Given the description of an element on the screen output the (x, y) to click on. 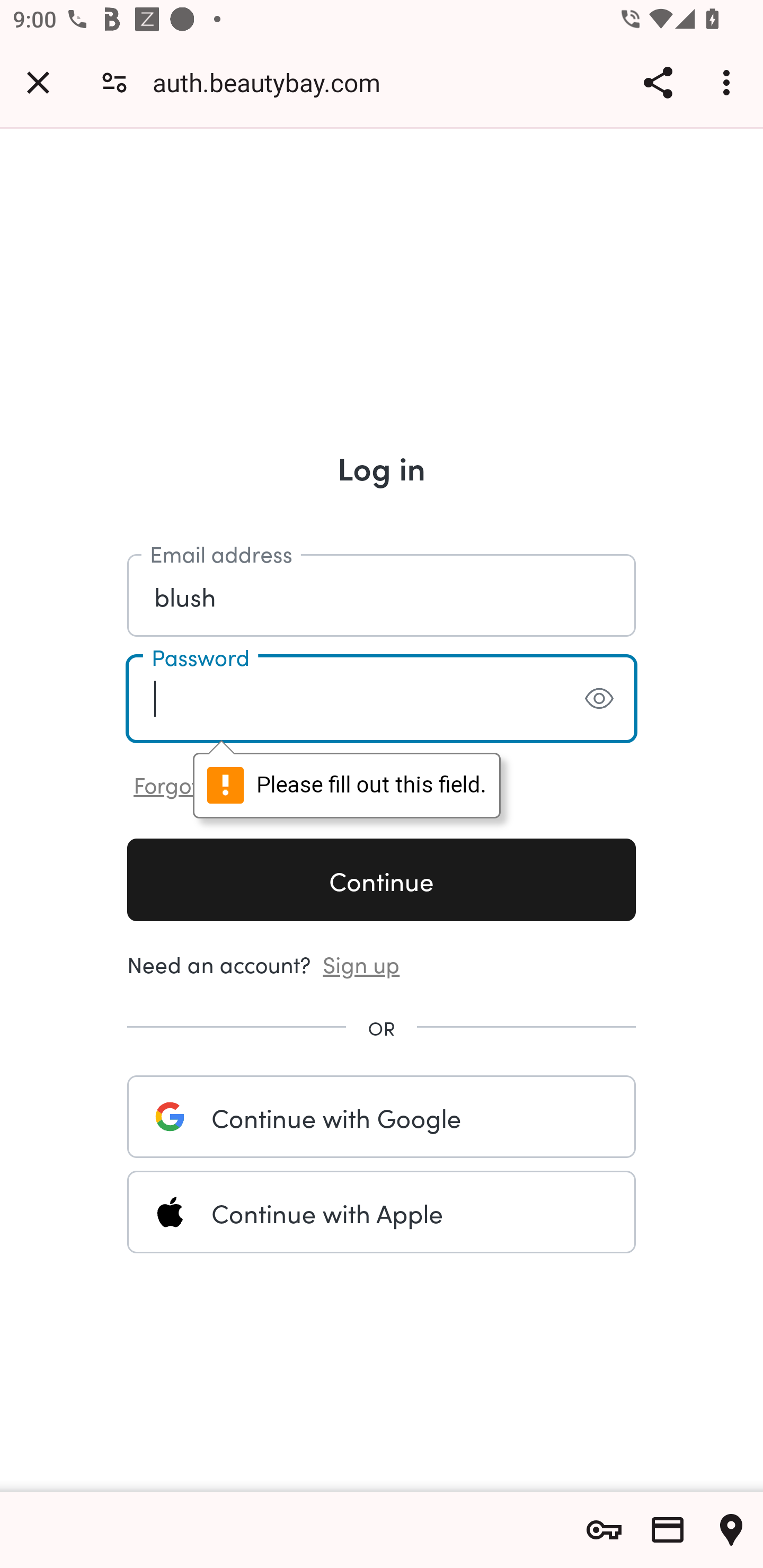
Close tab (38, 82)
Share (657, 82)
Customize and control Google Chrome (729, 82)
Connection is secure (114, 81)
auth.beautybay.com (272, 81)
blush (381, 594)
Show password (599, 698)
Continue (381, 879)
Sign up (361, 962)
Continue with Google (381, 1116)
Continue with Apple (381, 1211)
Show saved passwords and password options (603, 1530)
Show saved payment methods (667, 1530)
Show saved addresses (731, 1530)
